Given the description of an element on the screen output the (x, y) to click on. 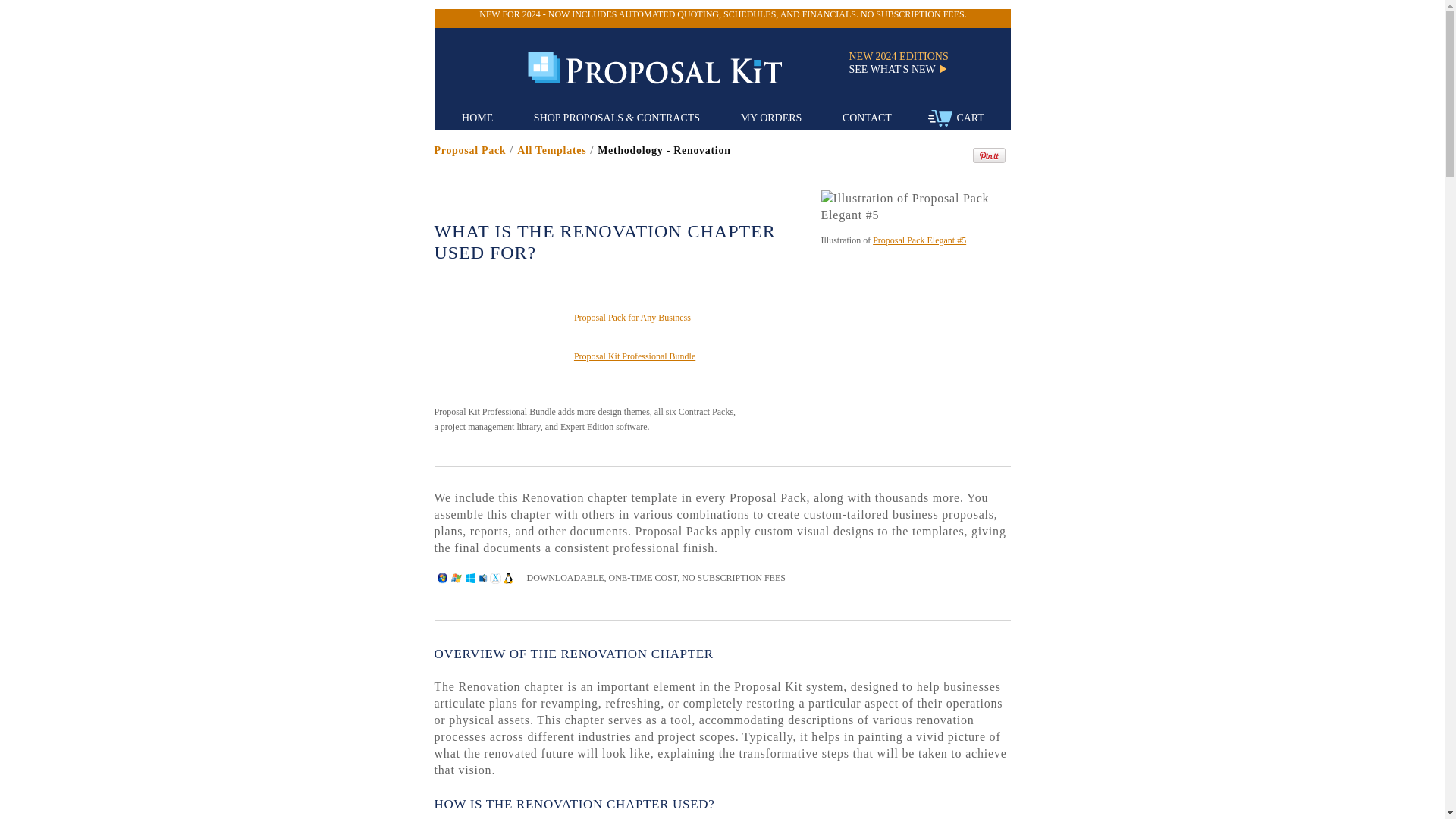
CONTACT (867, 118)
Shop Proposal Kit Proposal and Contract Products (617, 118)
Proposal Kit Product Upgrades (905, 69)
Proposal Pack (469, 150)
All Templates (551, 150)
MY ORDERS (771, 118)
Major Proposal Kit version upgrade just released. (722, 14)
Business Proposal Renovation Template (551, 150)
Proposal Kit Professional Bundle (634, 356)
